Given the description of an element on the screen output the (x, y) to click on. 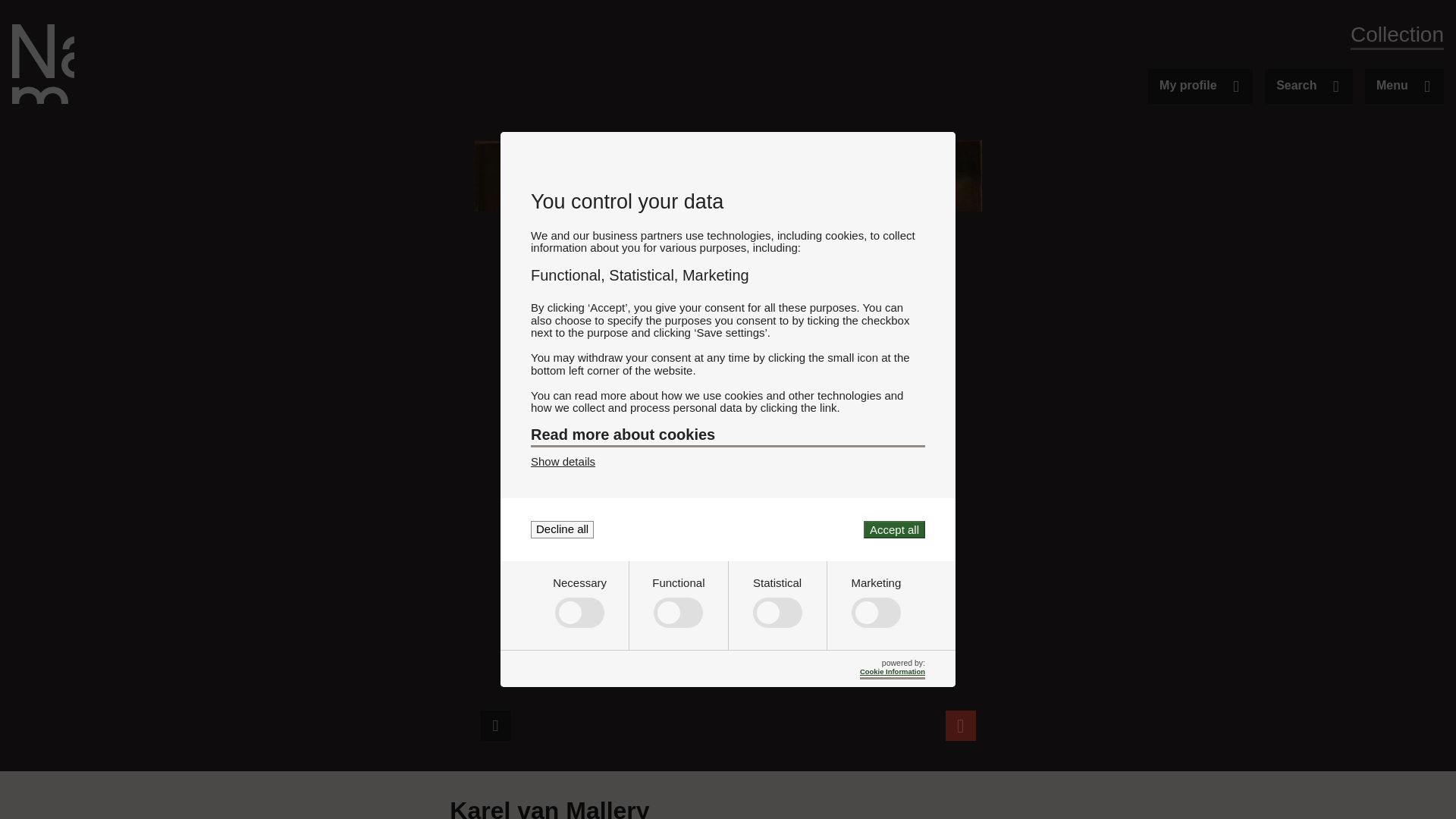
Show details (563, 461)
Read more about cookies (727, 436)
